Given the description of an element on the screen output the (x, y) to click on. 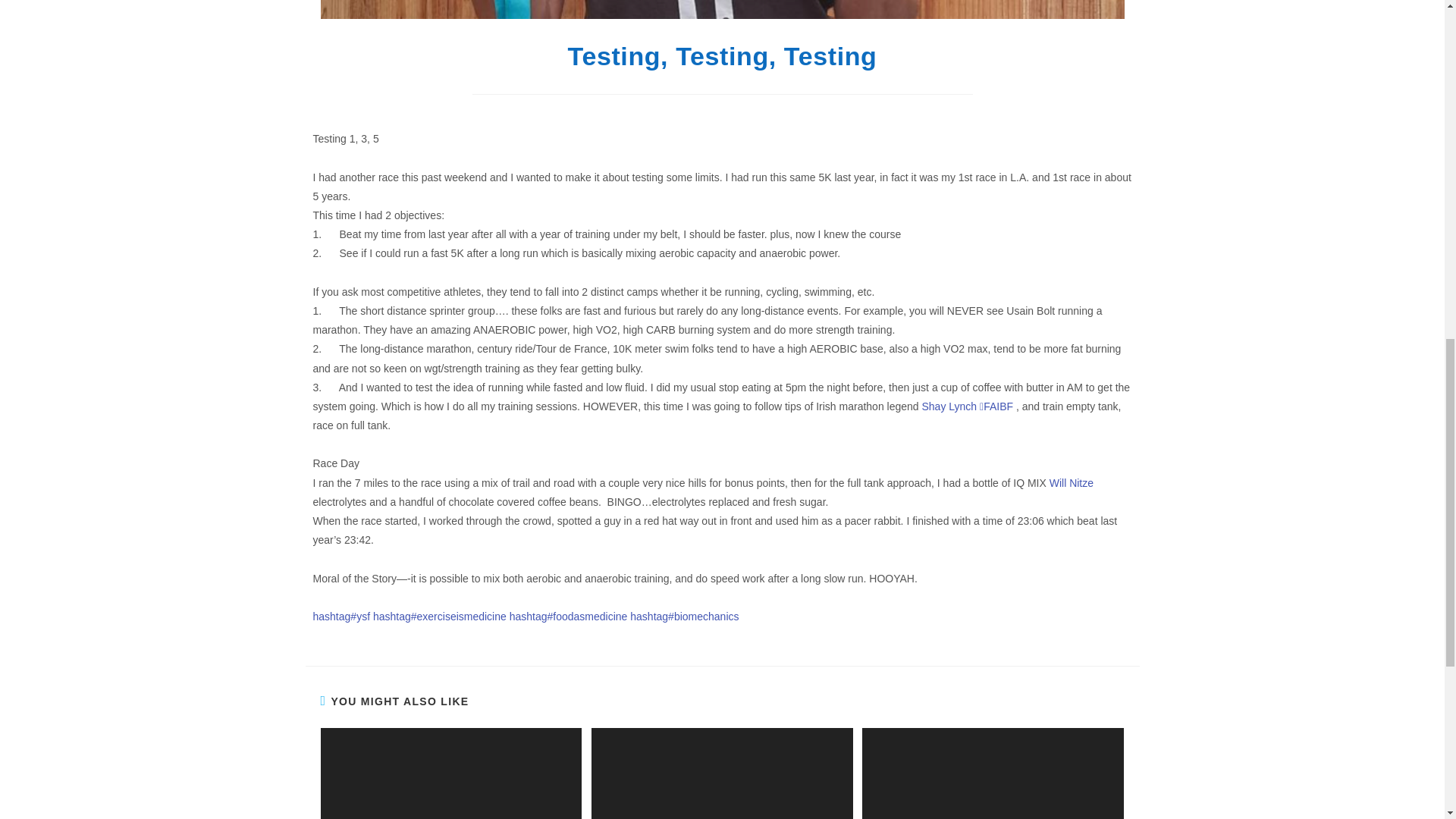
Will Nitze (1071, 482)
